Given the description of an element on the screen output the (x, y) to click on. 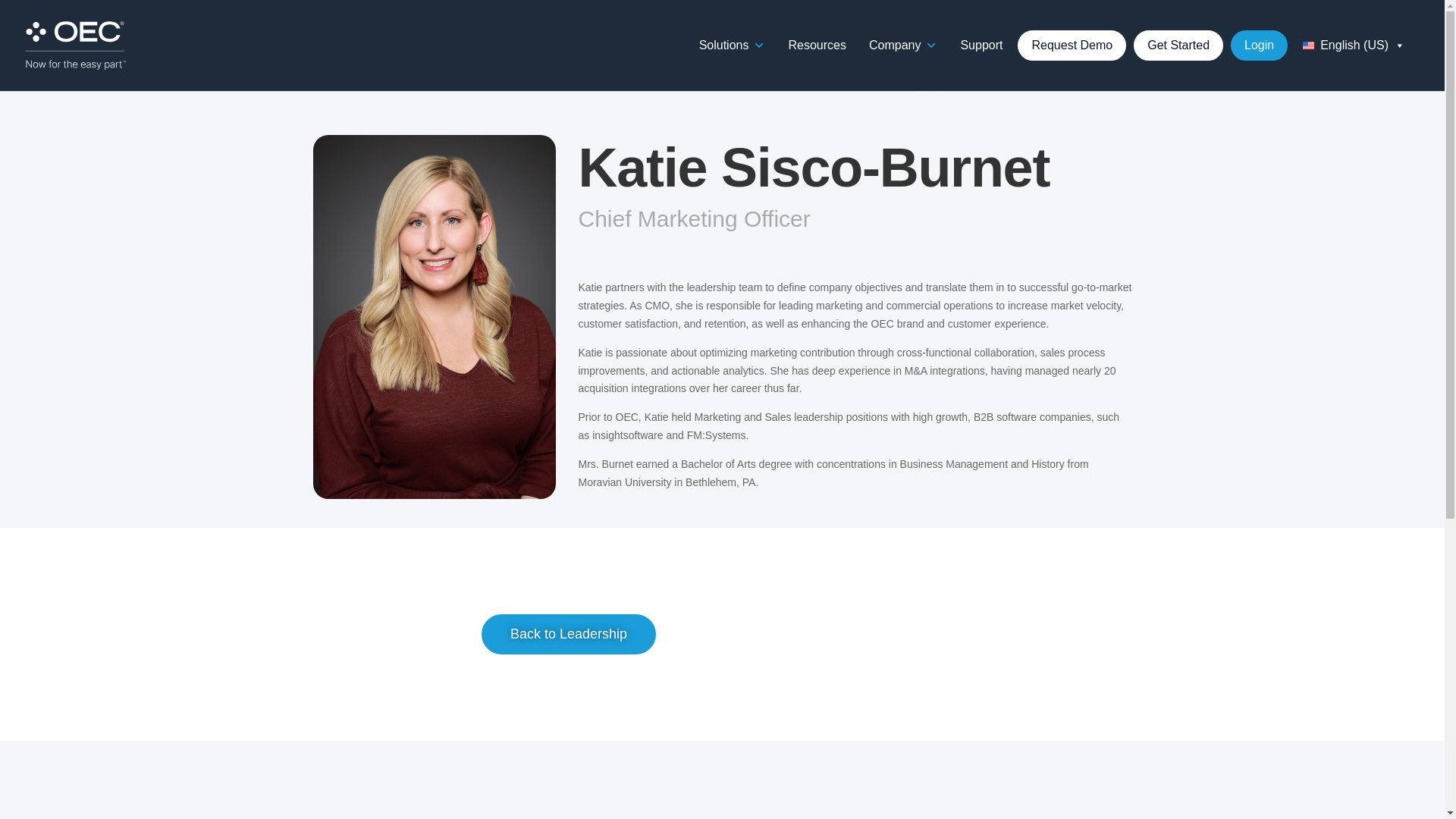
Solutions (732, 45)
